Given the description of an element on the screen output the (x, y) to click on. 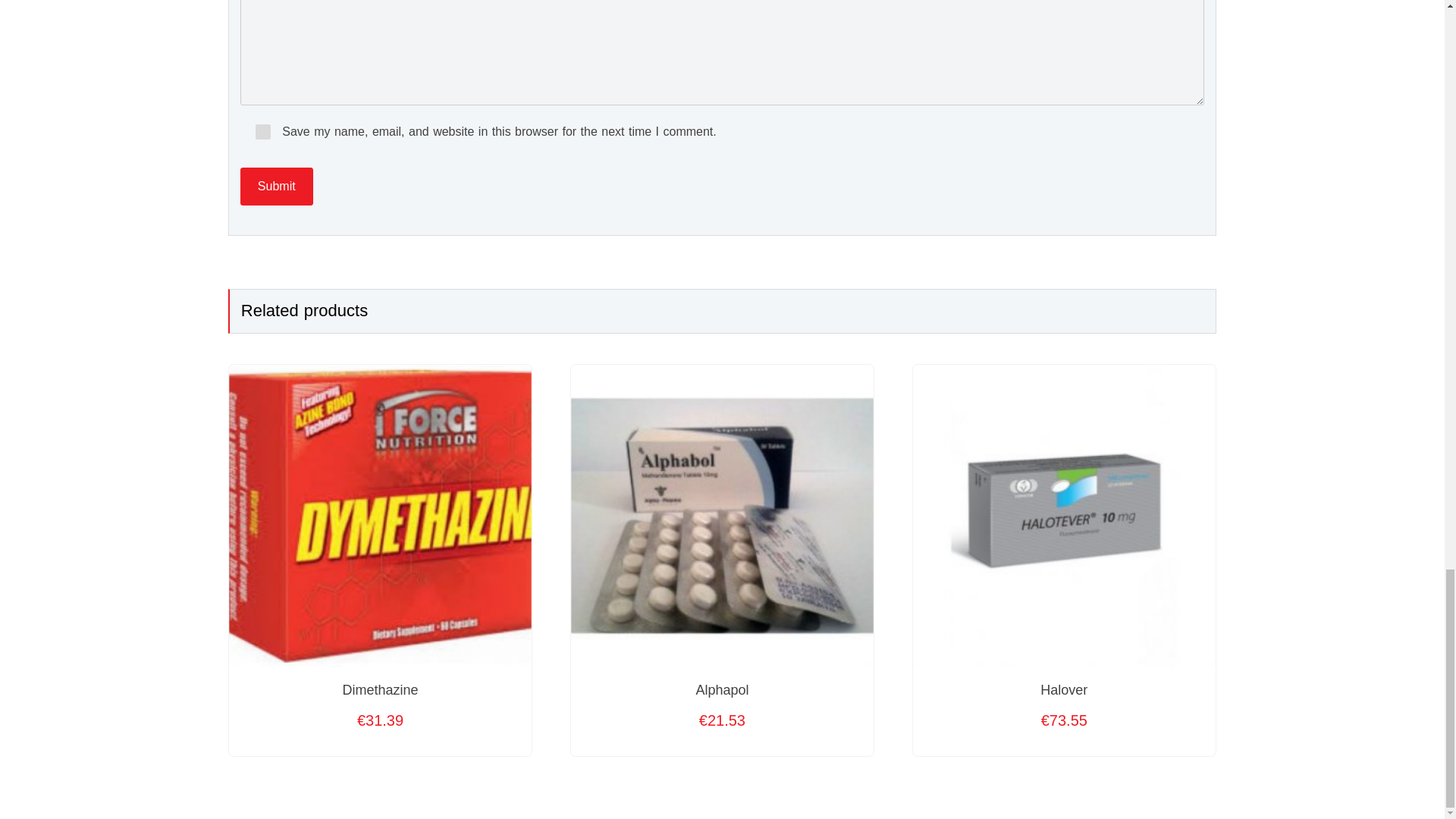
yes (263, 131)
Submit (276, 186)
Submit (276, 186)
